Given the description of an element on the screen output the (x, y) to click on. 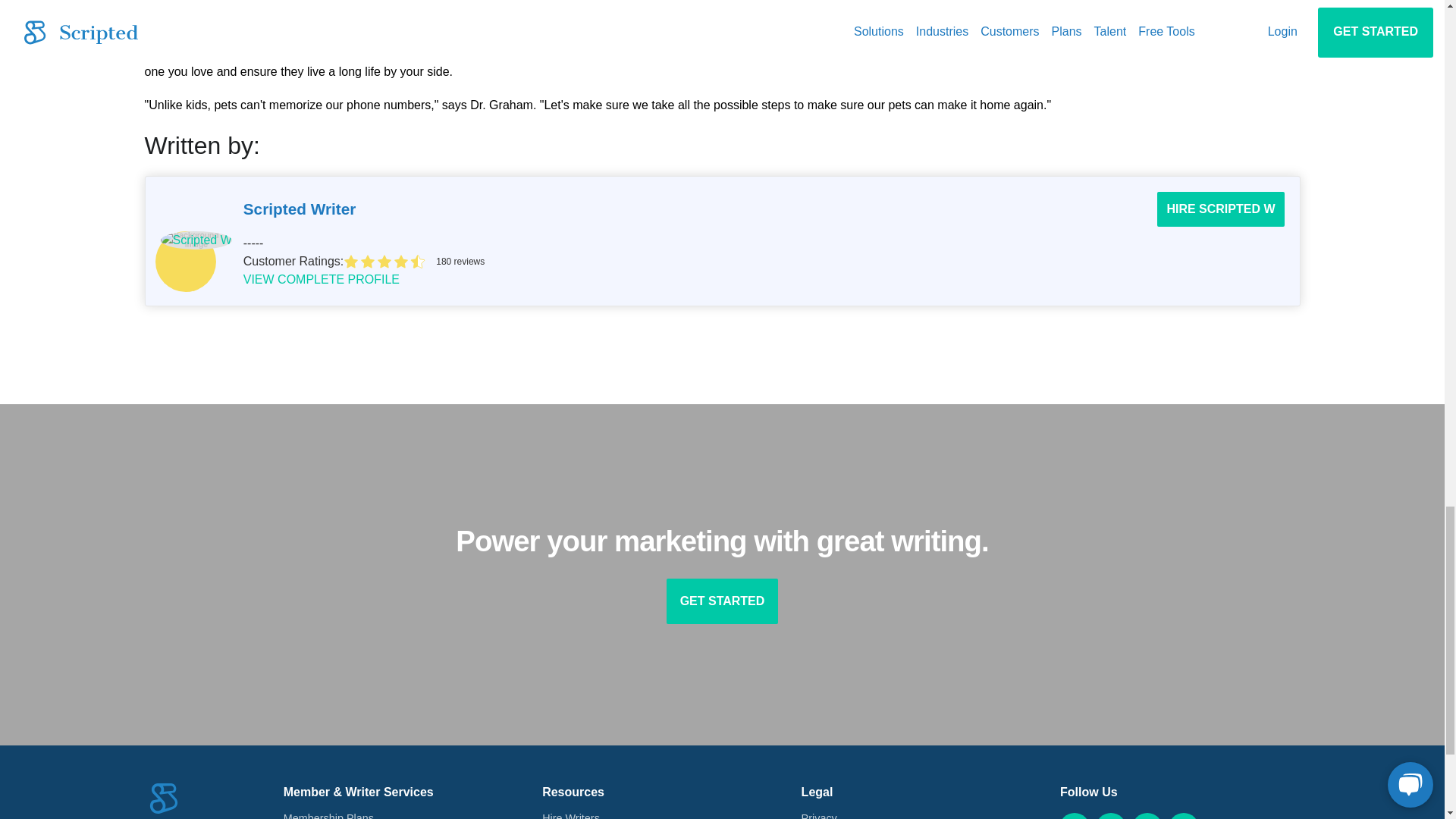
4.8 Average Rating (813, 261)
